Given the description of an element on the screen output the (x, y) to click on. 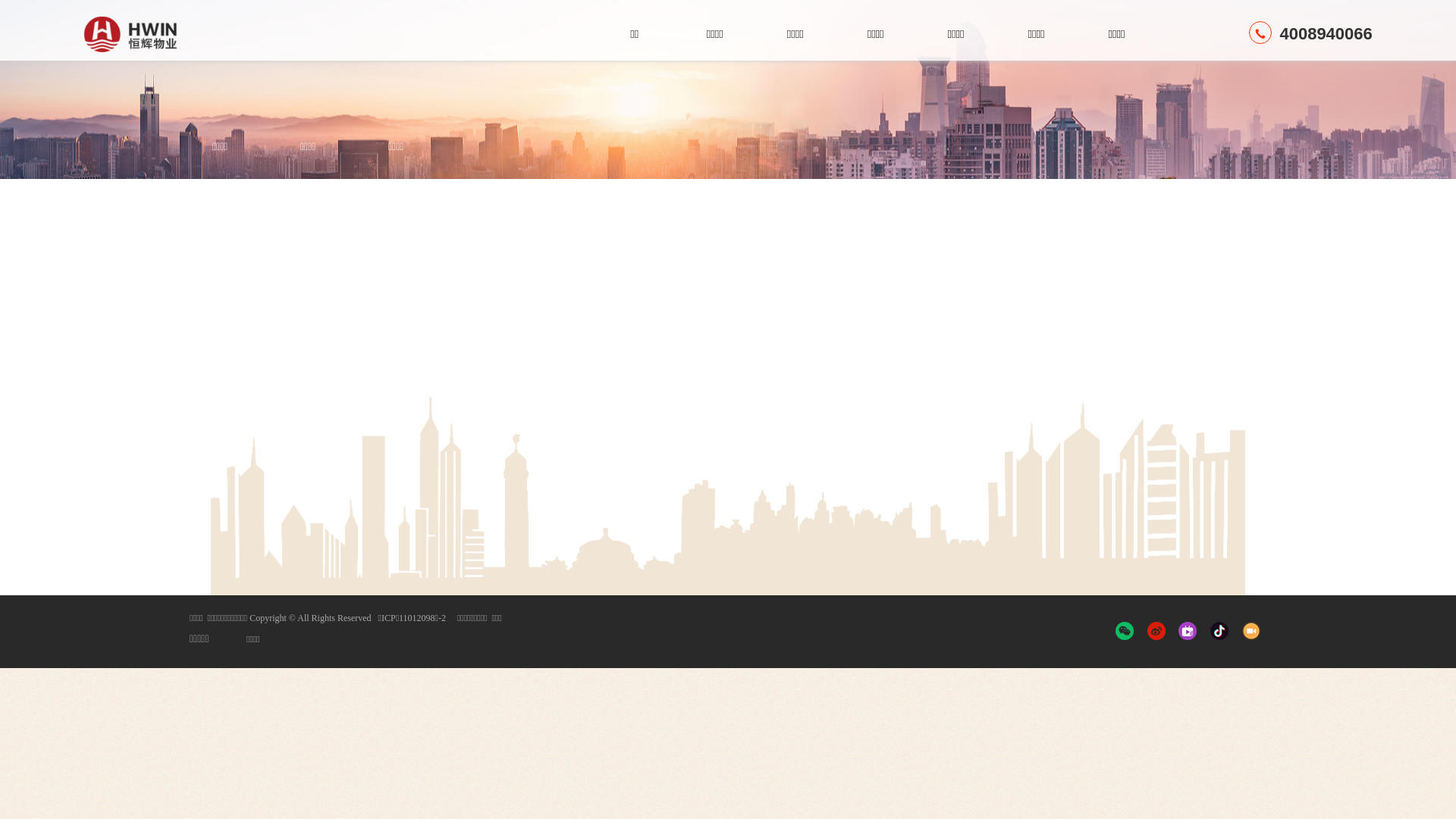
4008940066 Element type: text (1309, 33)
LOGO Element type: hover (162, 33)
